Given the description of an element on the screen output the (x, y) to click on. 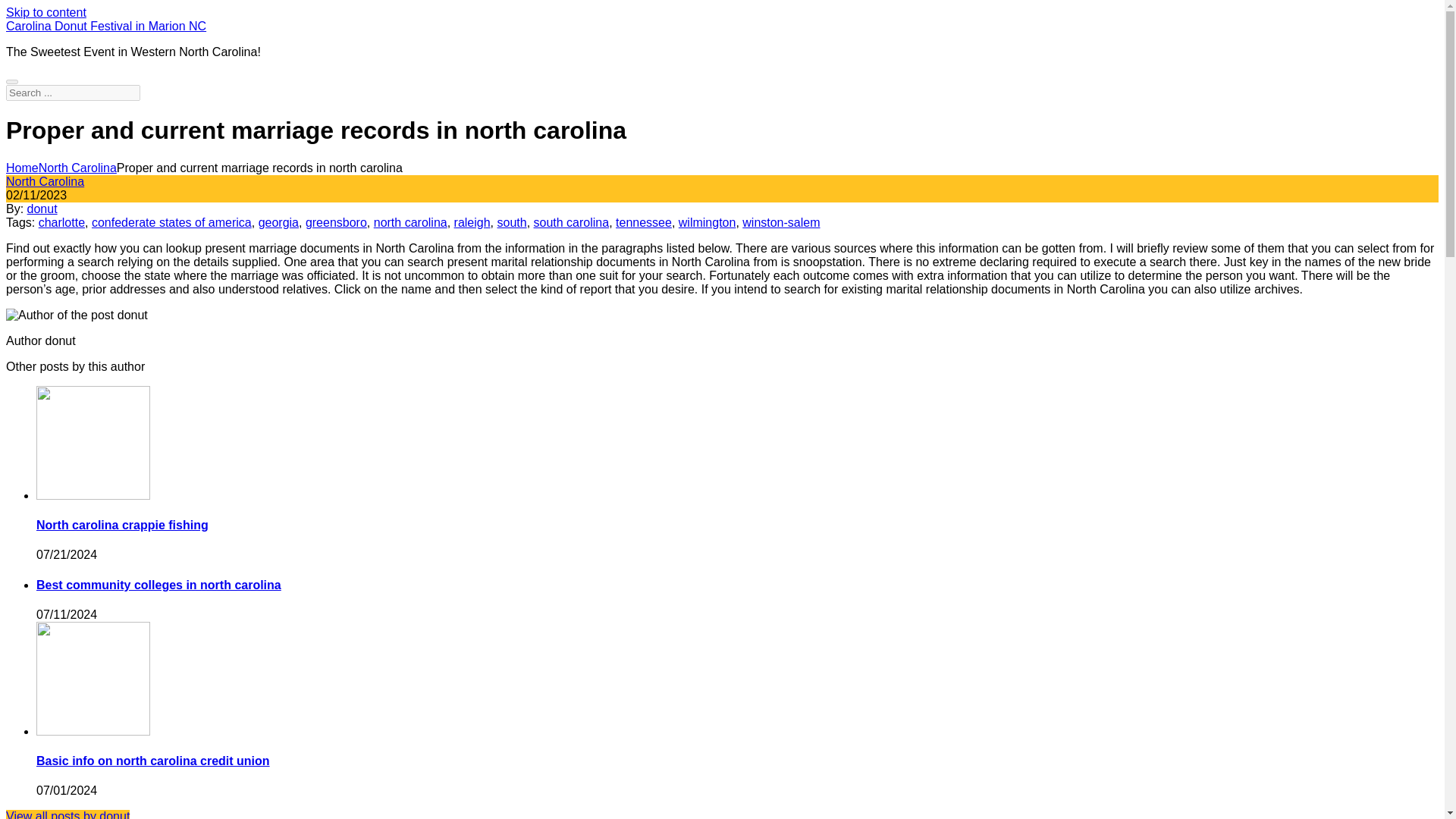
south (512, 222)
North carolina crappie fishing (122, 524)
south carolina (572, 222)
charlotte (61, 222)
Skip to content (45, 11)
georgia (278, 222)
confederate states of america (171, 222)
north carolina (410, 222)
View all posts by donut (67, 814)
raleigh (472, 222)
winston-salem (780, 222)
Carolina Donut Festival in Marion NC (105, 25)
Home (22, 167)
North Carolina (44, 181)
wilmington (707, 222)
